Given the description of an element on the screen output the (x, y) to click on. 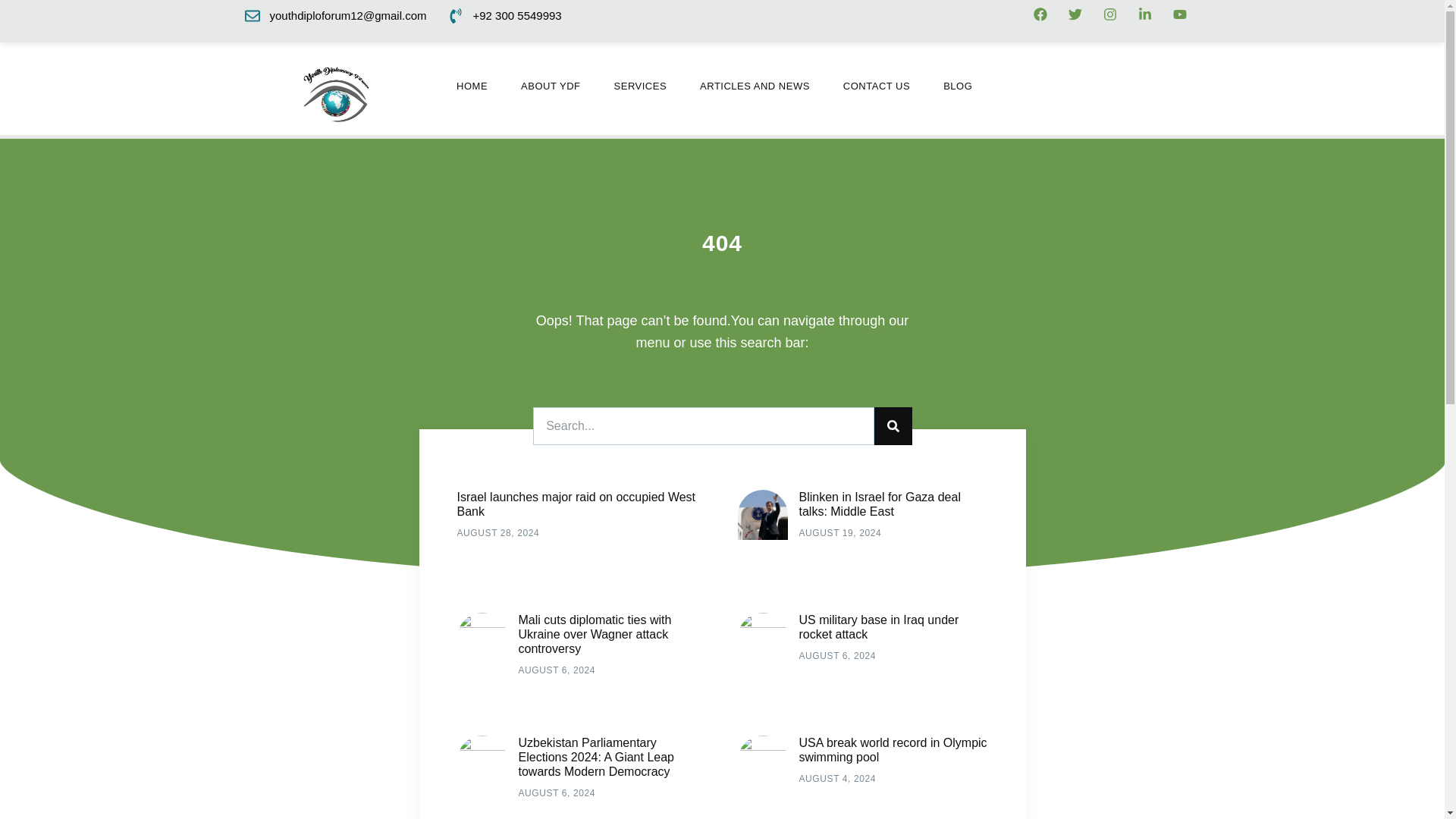
BLOG (957, 85)
CONTACT US (876, 85)
USA break world record in Olympic swimming pool (893, 749)
ABOUT YDF (550, 85)
Israel launches major raid on occupied West Bank (576, 503)
ARTICLES AND NEWS (754, 85)
SERVICES (640, 85)
HOME (471, 85)
